Given the description of an element on the screen output the (x, y) to click on. 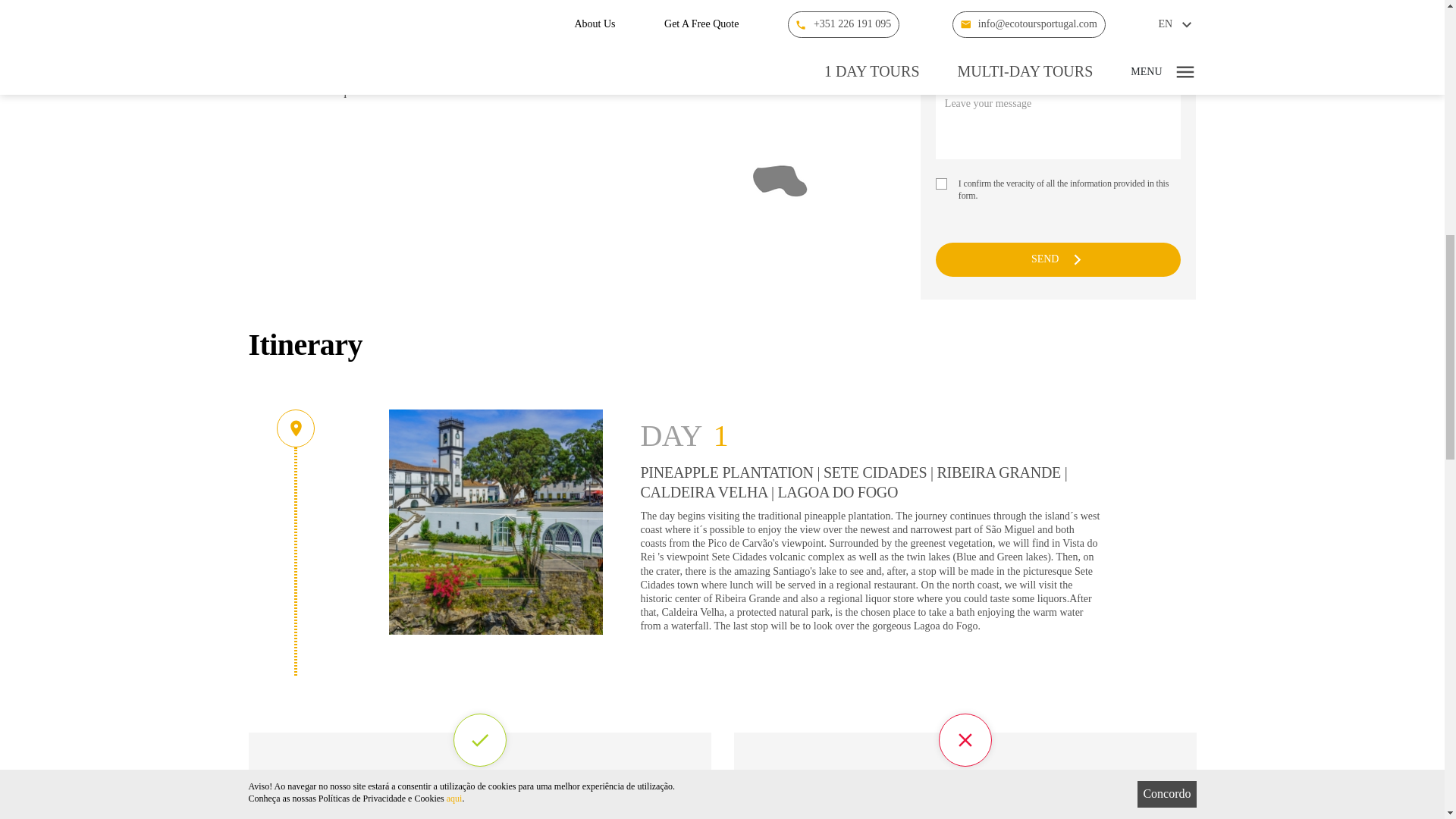
1 (941, 183)
